Given the description of an element on the screen output the (x, y) to click on. 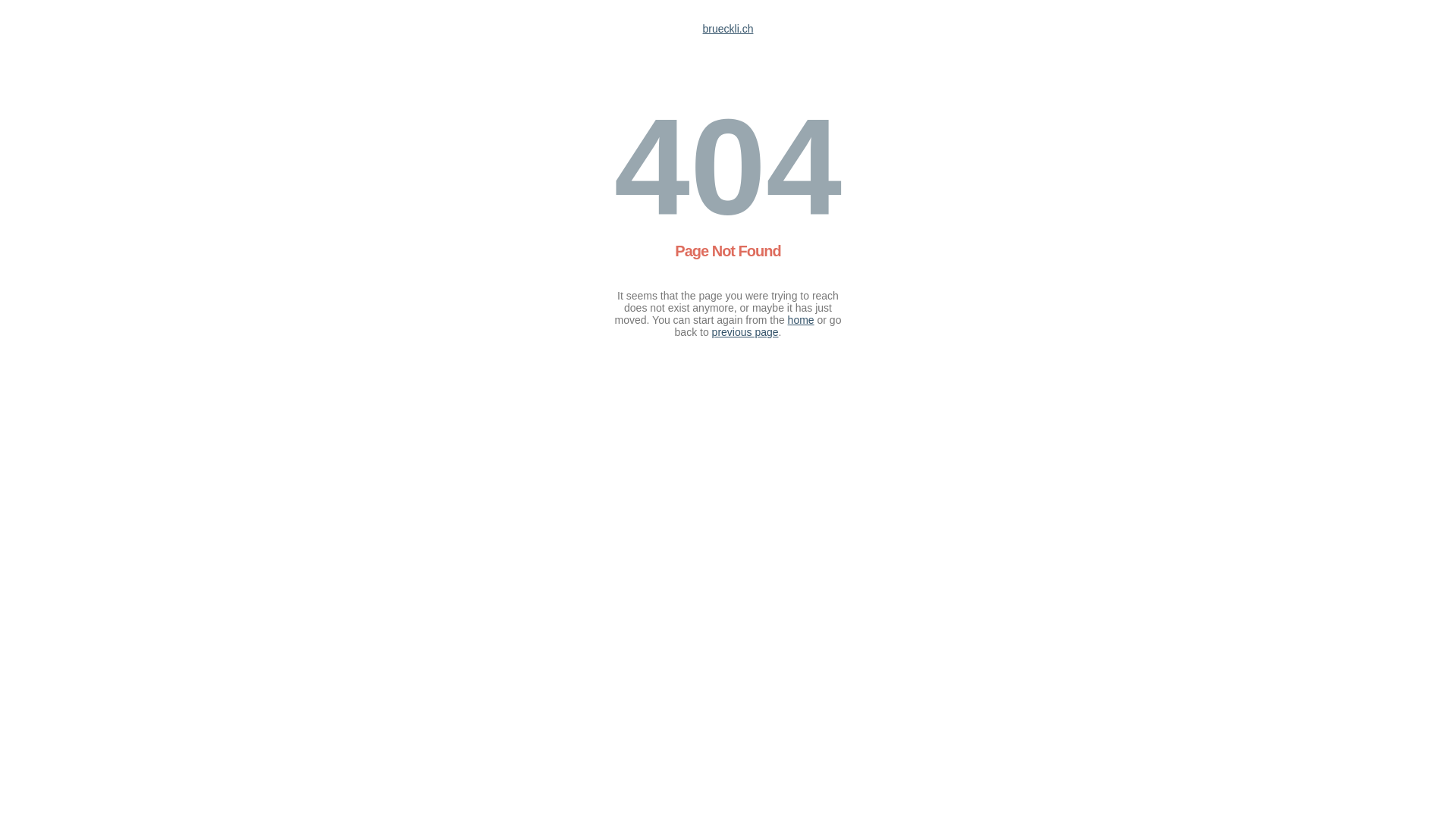
previous page Element type: text (745, 332)
home Element type: text (800, 319)
brueckli.ch Element type: text (727, 28)
